Given the description of an element on the screen output the (x, y) to click on. 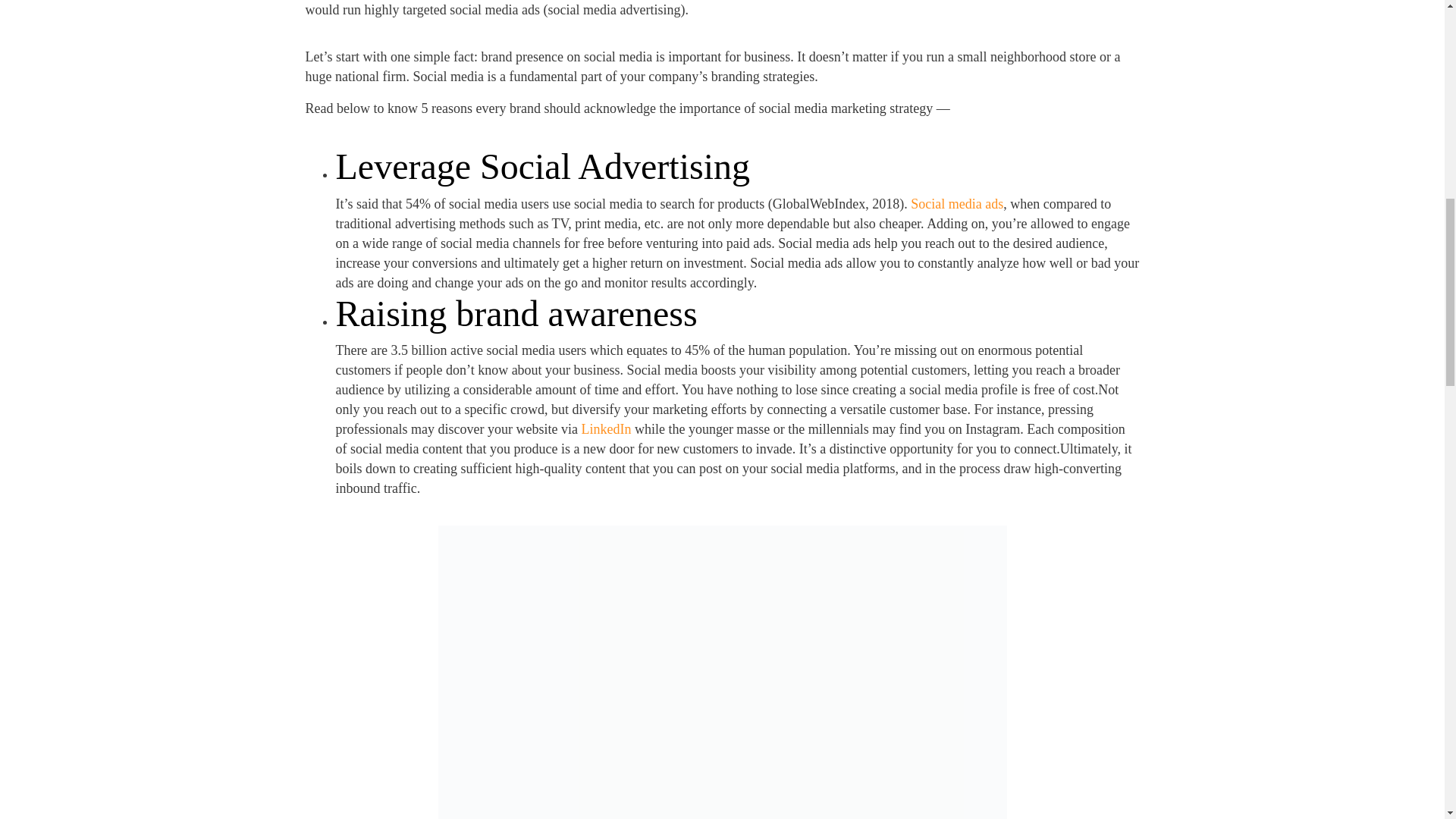
LinkedIn (605, 428)
Social media ads (957, 203)
